Given the description of an element on the screen output the (x, y) to click on. 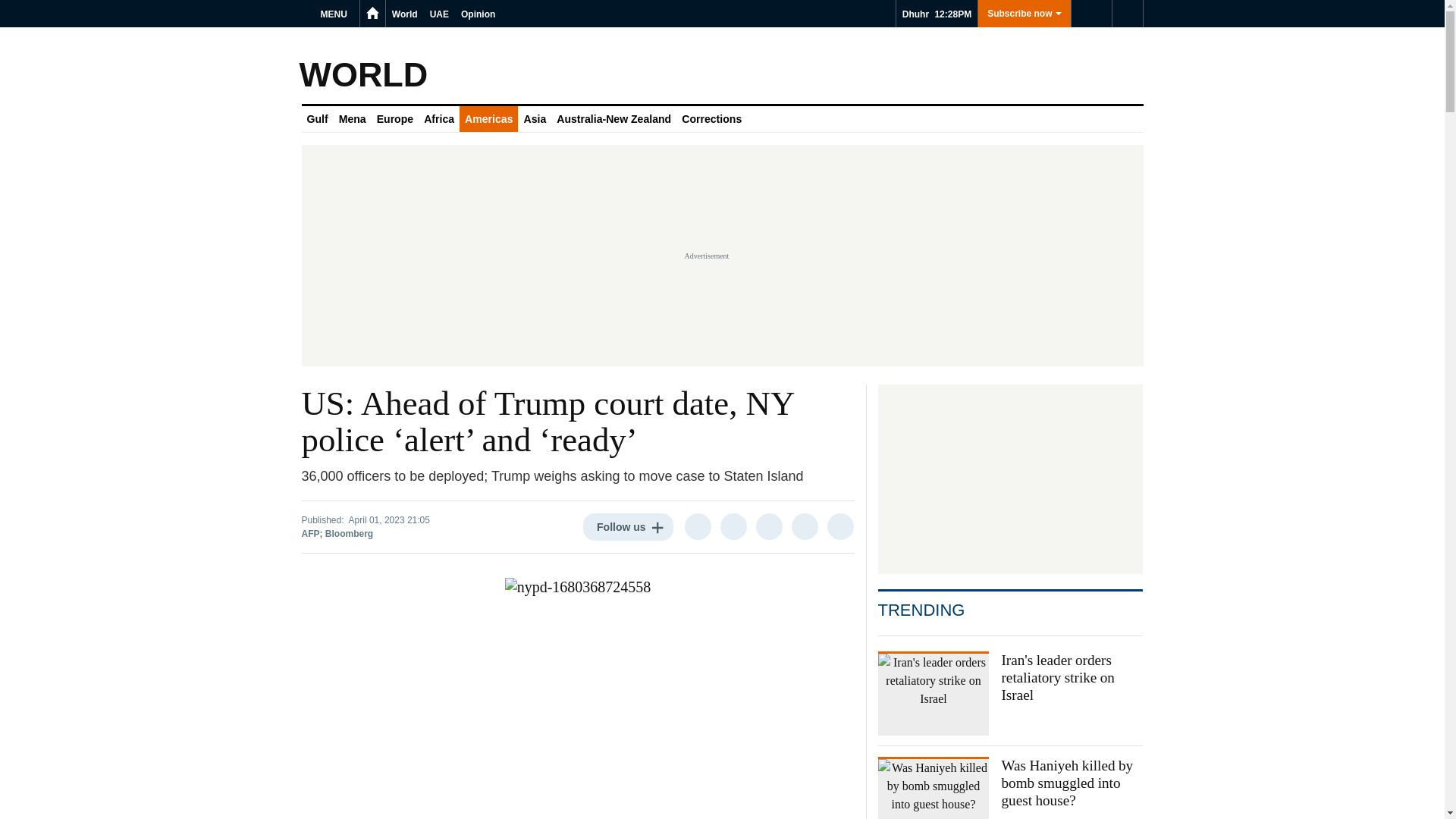
World (404, 13)
Opinion (477, 13)
MENU (336, 13)
Subscribe now (1024, 13)
UAE (438, 13)
Dhuhr 12:28PM (936, 13)
